Given the description of an element on the screen output the (x, y) to click on. 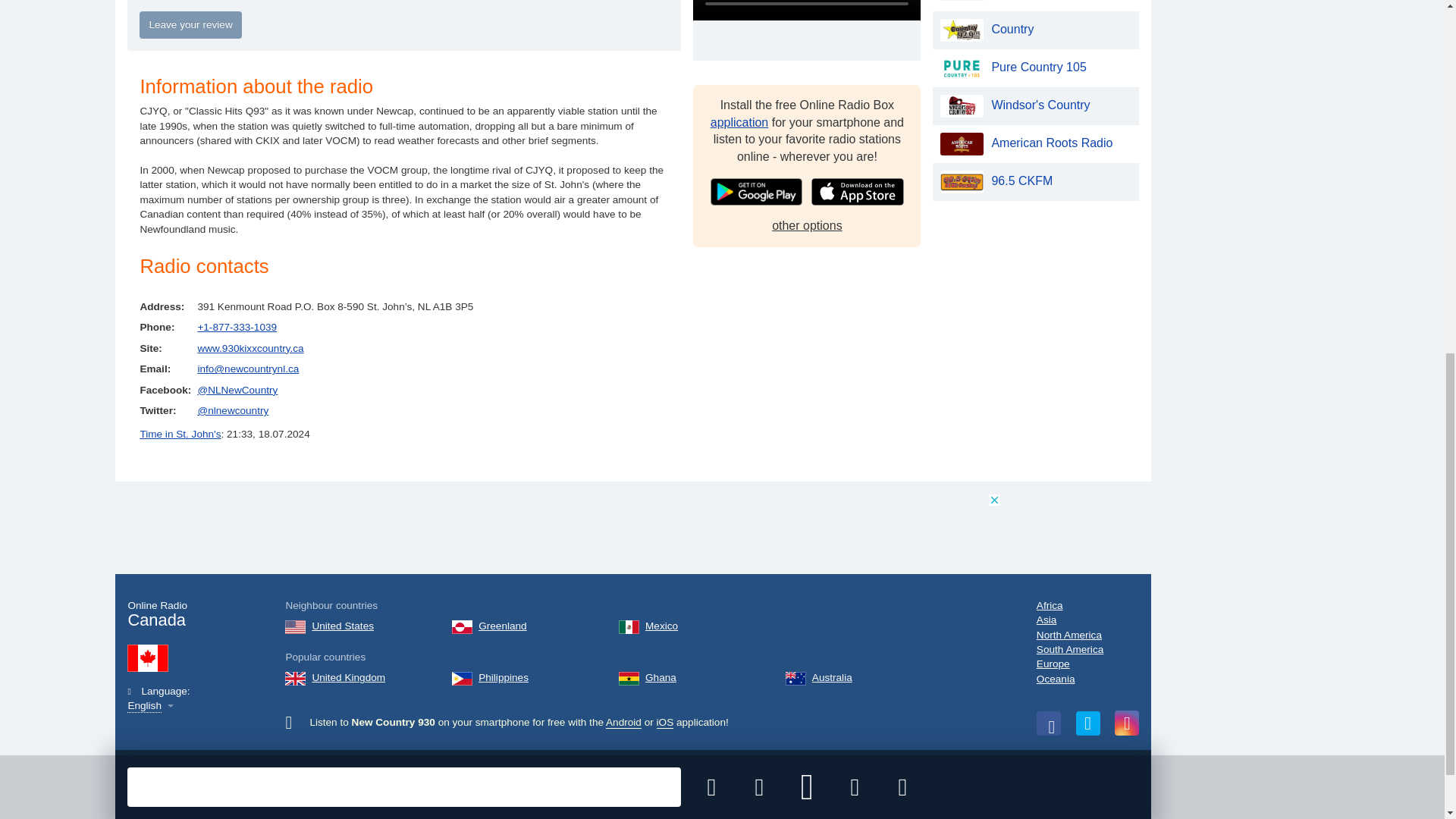
Add to my favorites (711, 122)
Previous station (759, 122)
Next station (853, 122)
Volume control (901, 122)
Leave your review (190, 24)
Listen to radio (807, 122)
